Given the description of an element on the screen output the (x, y) to click on. 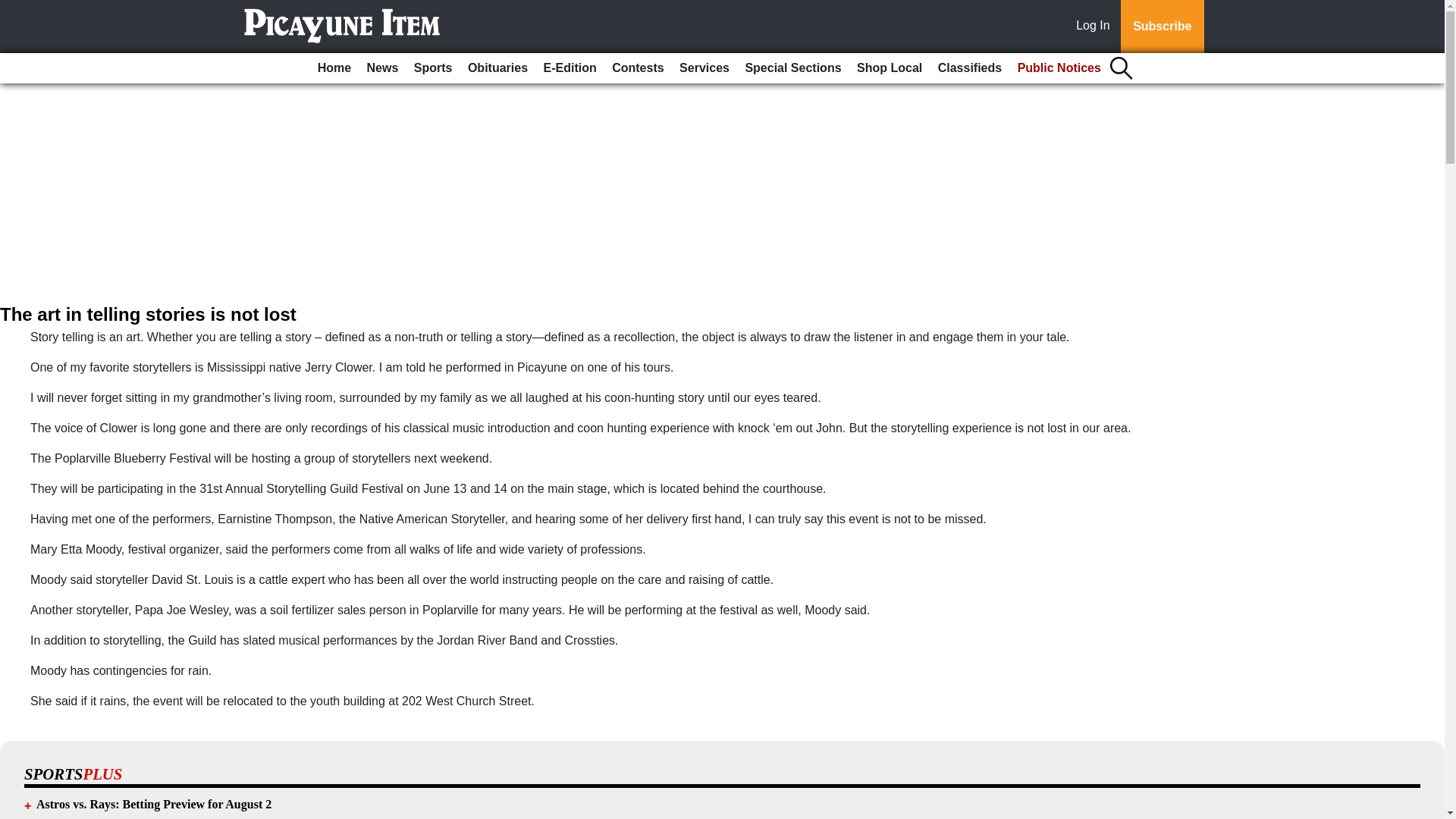
News (382, 68)
Astros vs. Rays: Betting Preview for August 2 (153, 803)
Contests (637, 68)
Shop Local (889, 68)
Public Notices (1058, 68)
Classifieds (969, 68)
Services (703, 68)
Log In (1095, 26)
E-Edition (569, 68)
Go (13, 9)
Special Sections (792, 68)
Subscribe (1162, 26)
Home (333, 68)
Obituaries (497, 68)
Sports (432, 68)
